Given the description of an element on the screen output the (x, y) to click on. 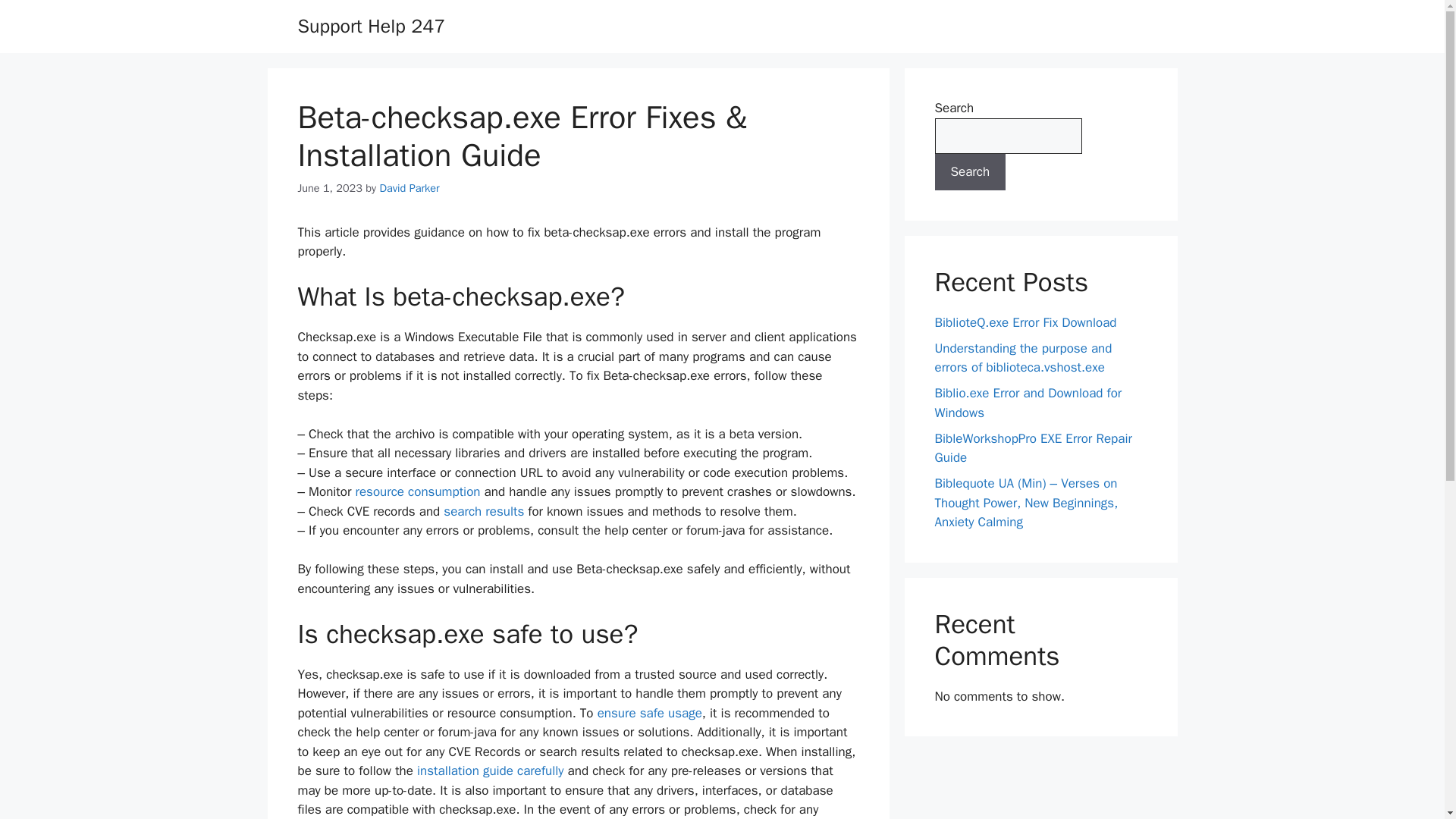
View all posts by David Parker (408, 187)
search results (484, 511)
BiblioteQ.exe Error Fix Download (1025, 321)
resource consumption (417, 491)
Search (970, 171)
BibleWorkshopPro EXE Error Repair Guide (1032, 448)
David Parker (408, 187)
BCR.exe Troubleshooting and Removal Guide (417, 491)
Biblio.exe Error and Download for Windows (1027, 402)
installation guide carefully (489, 770)
BCP-APP1.EXE Troubleshooting and Removal Guide (648, 713)
BAE Setup.exe Error Fix Guide (489, 770)
Support Help 247 (371, 25)
ensure safe usage (648, 713)
